Given the description of an element on the screen output the (x, y) to click on. 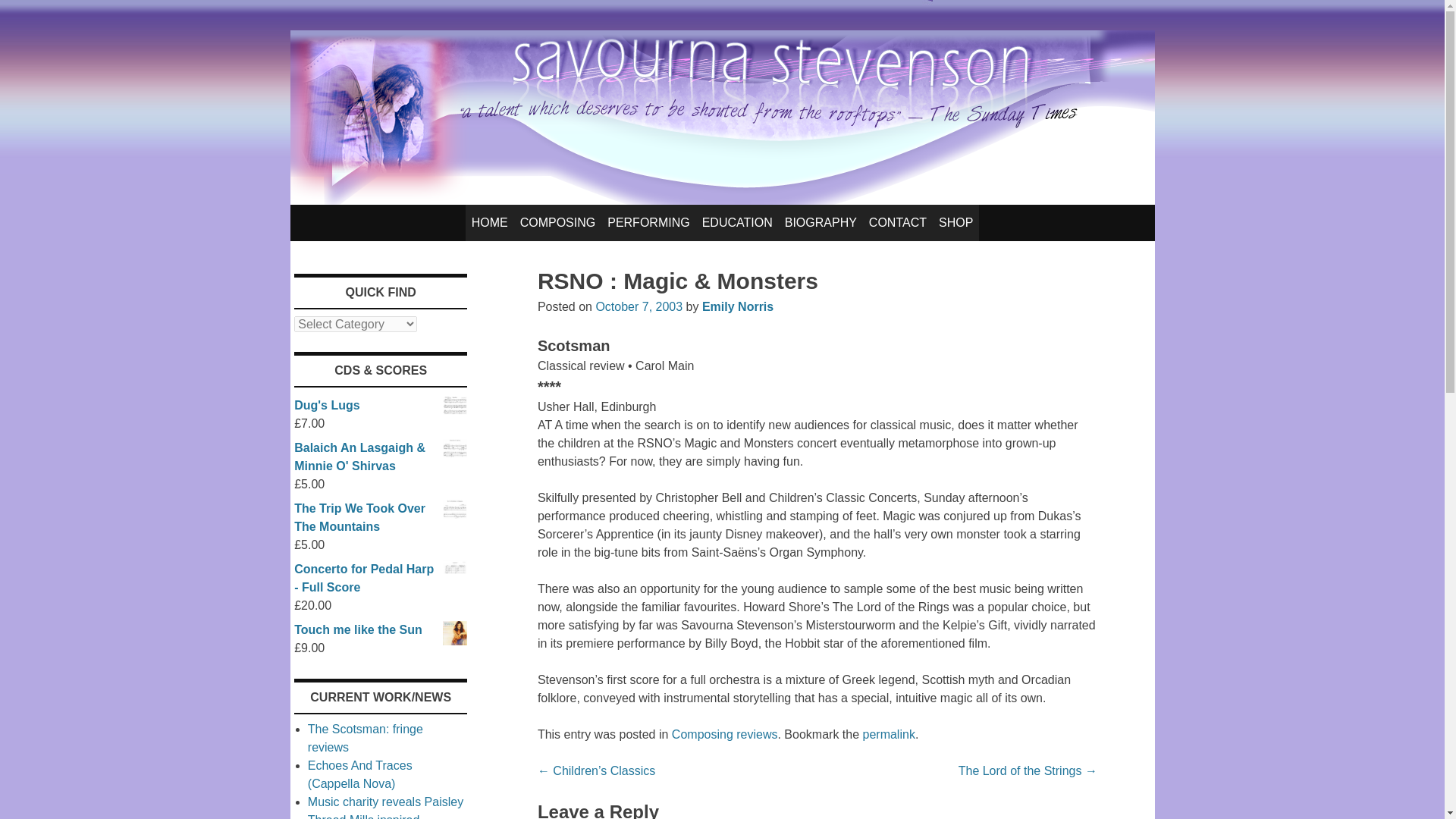
COMPOSING (557, 222)
BIOGRAPHY (820, 222)
View all posts by Emily Norris (737, 306)
HOME (489, 222)
permalink (889, 734)
The Trip We Took Over The Mountains (380, 517)
Emily Norris (737, 306)
12:00 am (638, 306)
The Scotsman: fringe reviews (365, 737)
Touch me like the Sun (380, 629)
